Given the description of an element on the screen output the (x, y) to click on. 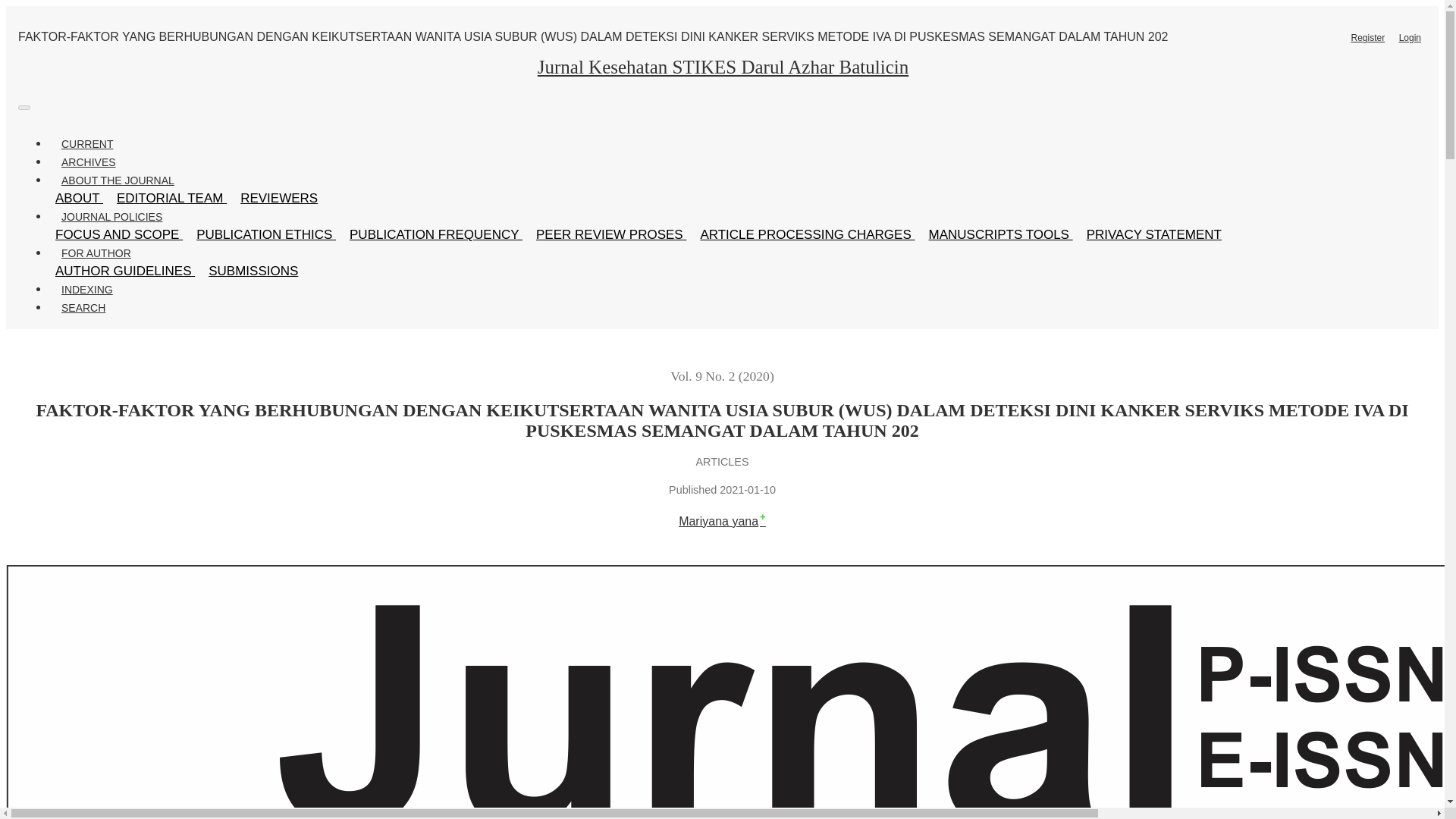
INDEXING (86, 289)
REVIEWERS (278, 198)
SEARCH (82, 307)
MANUSCRIPTS TOOLS (999, 234)
ARCHIVES (88, 161)
PUBLICATION FREQUENCY (435, 234)
AUTHOR GUIDELINES (125, 271)
FOR AUTHOR (96, 252)
JOURNAL POLICIES (111, 216)
Register (1367, 37)
SUBMISSIONS (253, 271)
ARTICLE PROCESSING CHARGES (807, 234)
Login (1409, 37)
ABOUT THE JOURNAL (117, 180)
EDITORIAL TEAM (171, 198)
